Given the description of an element on the screen output the (x, y) to click on. 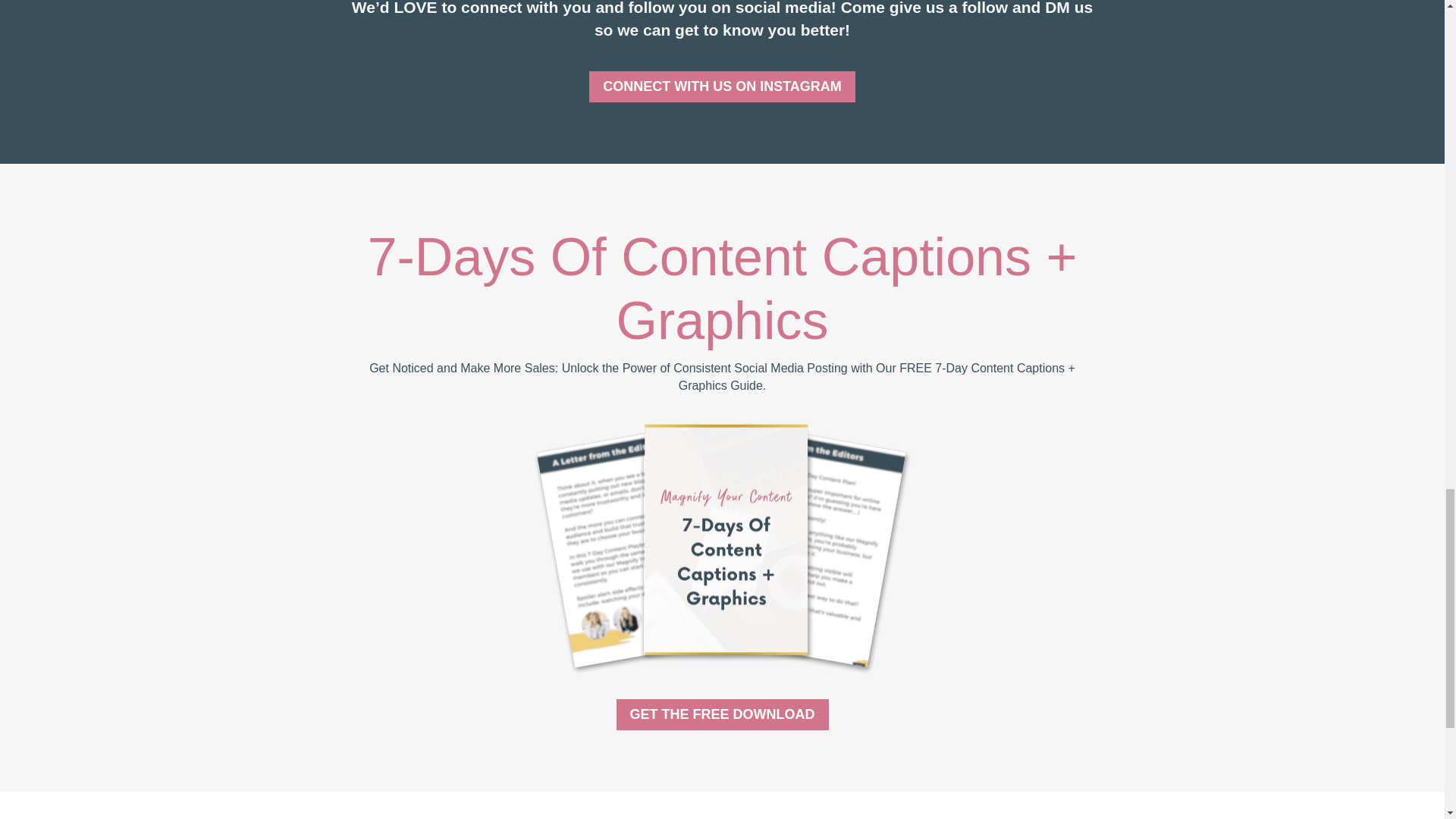
7 Days Of Content Captions and Graphics Mockup-1 (721, 546)
GET THE FREE DOWNLOAD (721, 714)
CONNECT WITH US ON INSTAGRAM (722, 86)
